Given the description of an element on the screen output the (x, y) to click on. 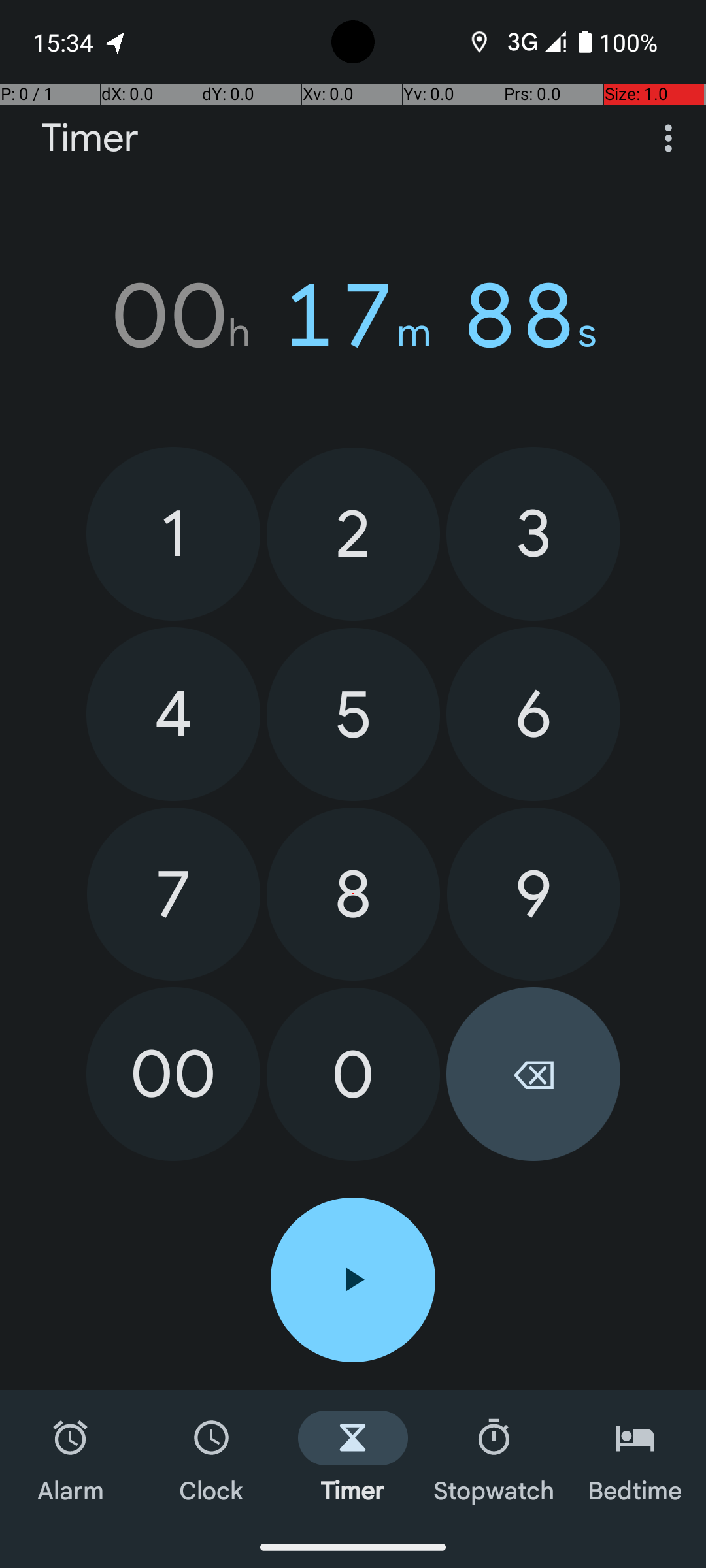
00h 17m 88s Element type: android.widget.TextView (353, 315)
